Given the description of an element on the screen output the (x, y) to click on. 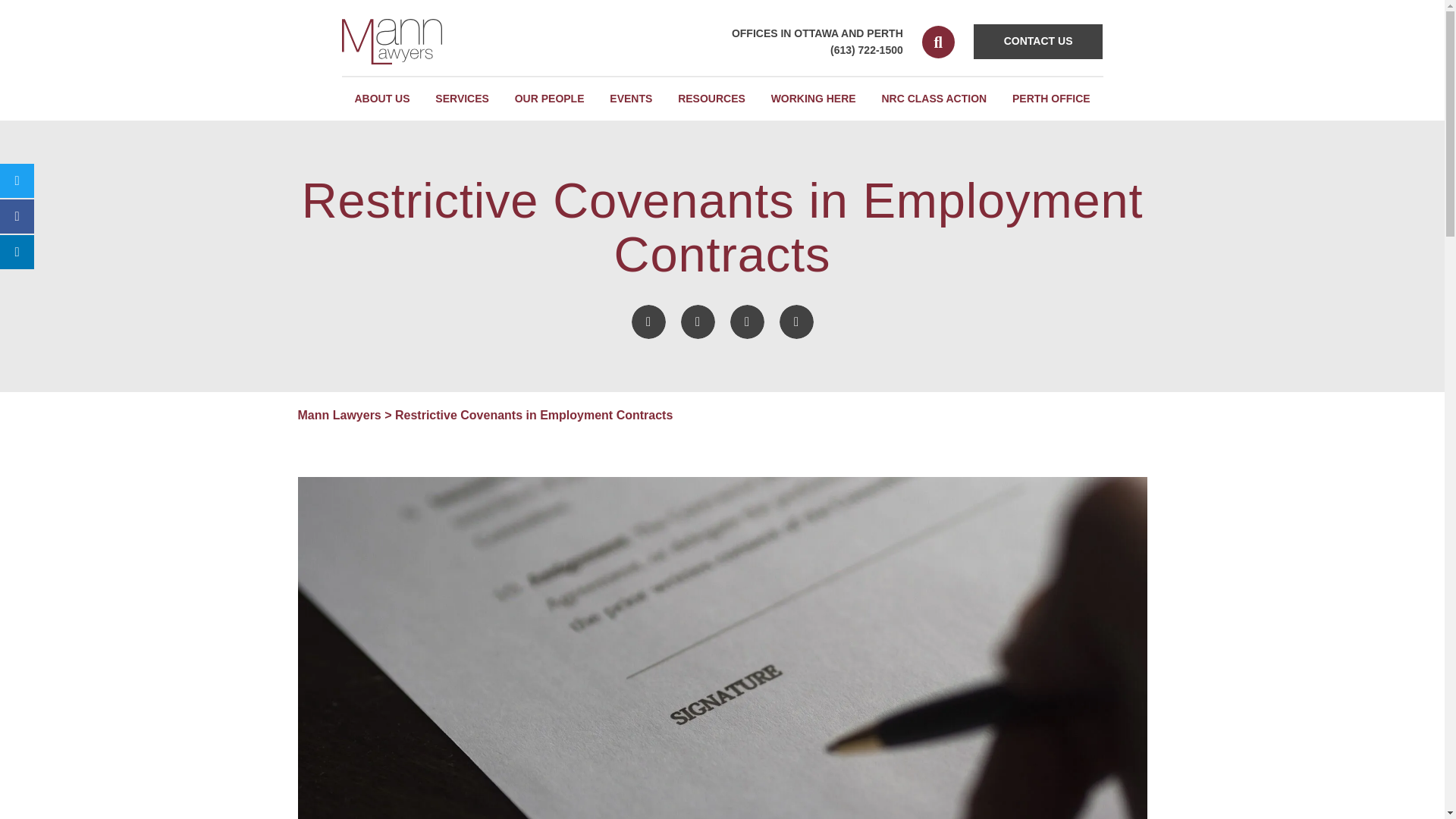
PERTH (884, 33)
CONTACT US (1038, 41)
